Given the description of an element on the screen output the (x, y) to click on. 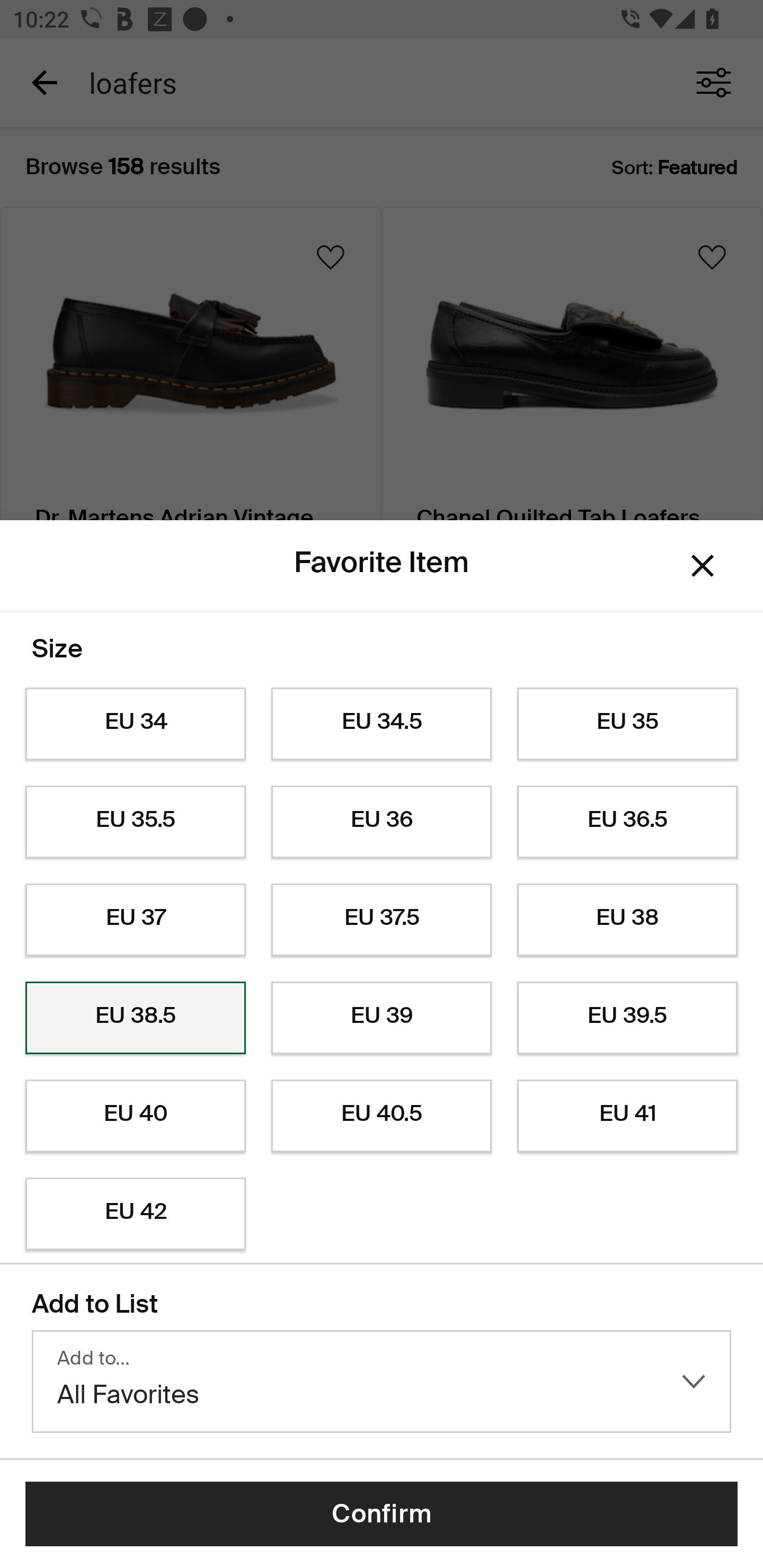
Dismiss (702, 564)
EU 34 (135, 724)
EU 34.5 (381, 724)
EU 35 (627, 724)
EU 35.5 (135, 822)
EU 36 (381, 822)
EU 36.5 (627, 822)
EU 37 (135, 919)
EU 37.5 (381, 919)
EU 38 (627, 919)
EU 38.5 (135, 1018)
EU 39 (381, 1018)
EU 39.5 (627, 1018)
EU 40 (135, 1116)
EU 40.5 (381, 1116)
EU 41 (627, 1116)
EU 42 (135, 1214)
Add to… All Favorites (381, 1381)
Confirm (381, 1513)
